Given the description of an element on the screen output the (x, y) to click on. 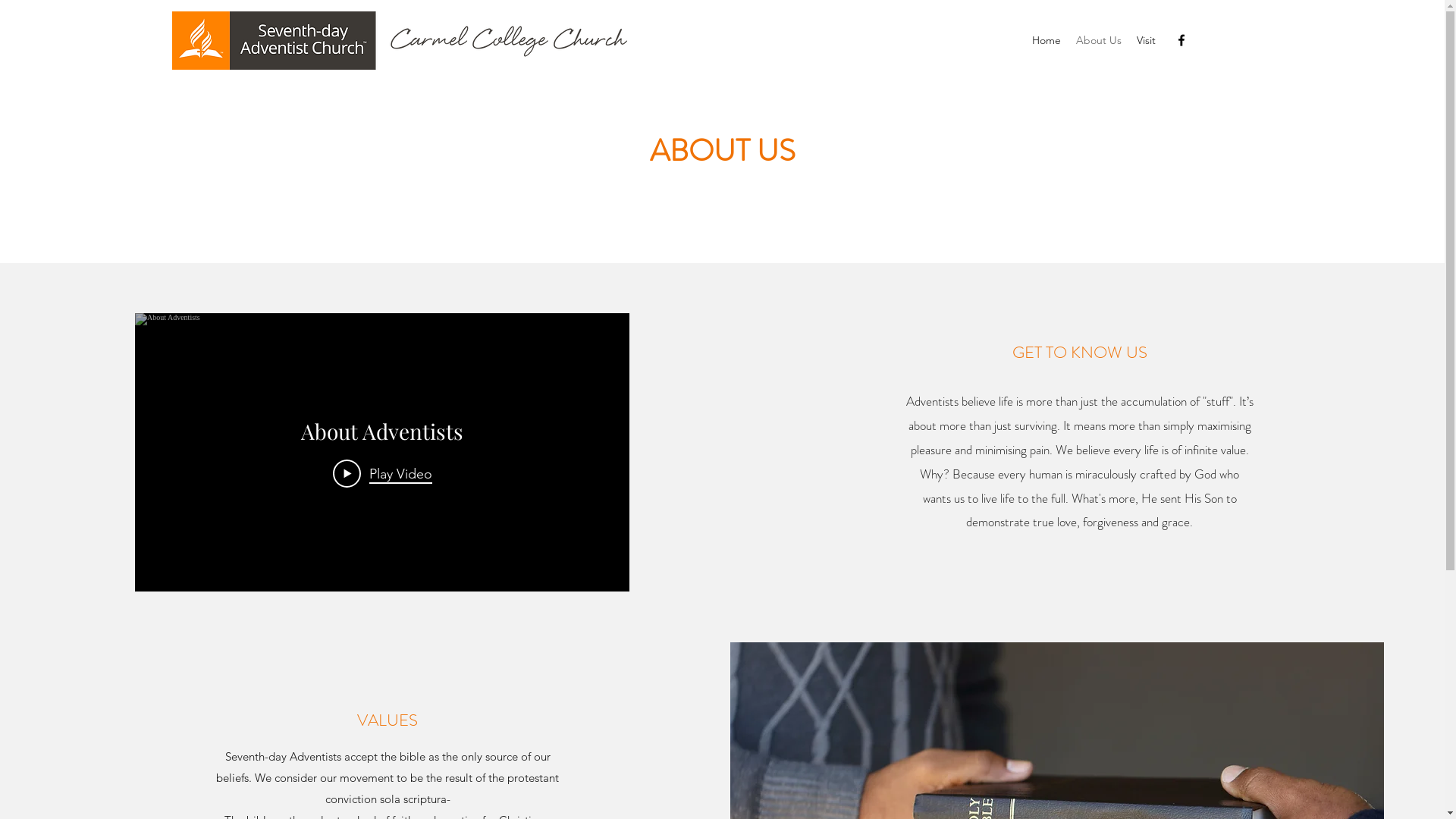
Visit Element type: text (1146, 39)
About Us Element type: text (1098, 39)
Home Element type: text (1046, 39)
